Given the description of an element on the screen output the (x, y) to click on. 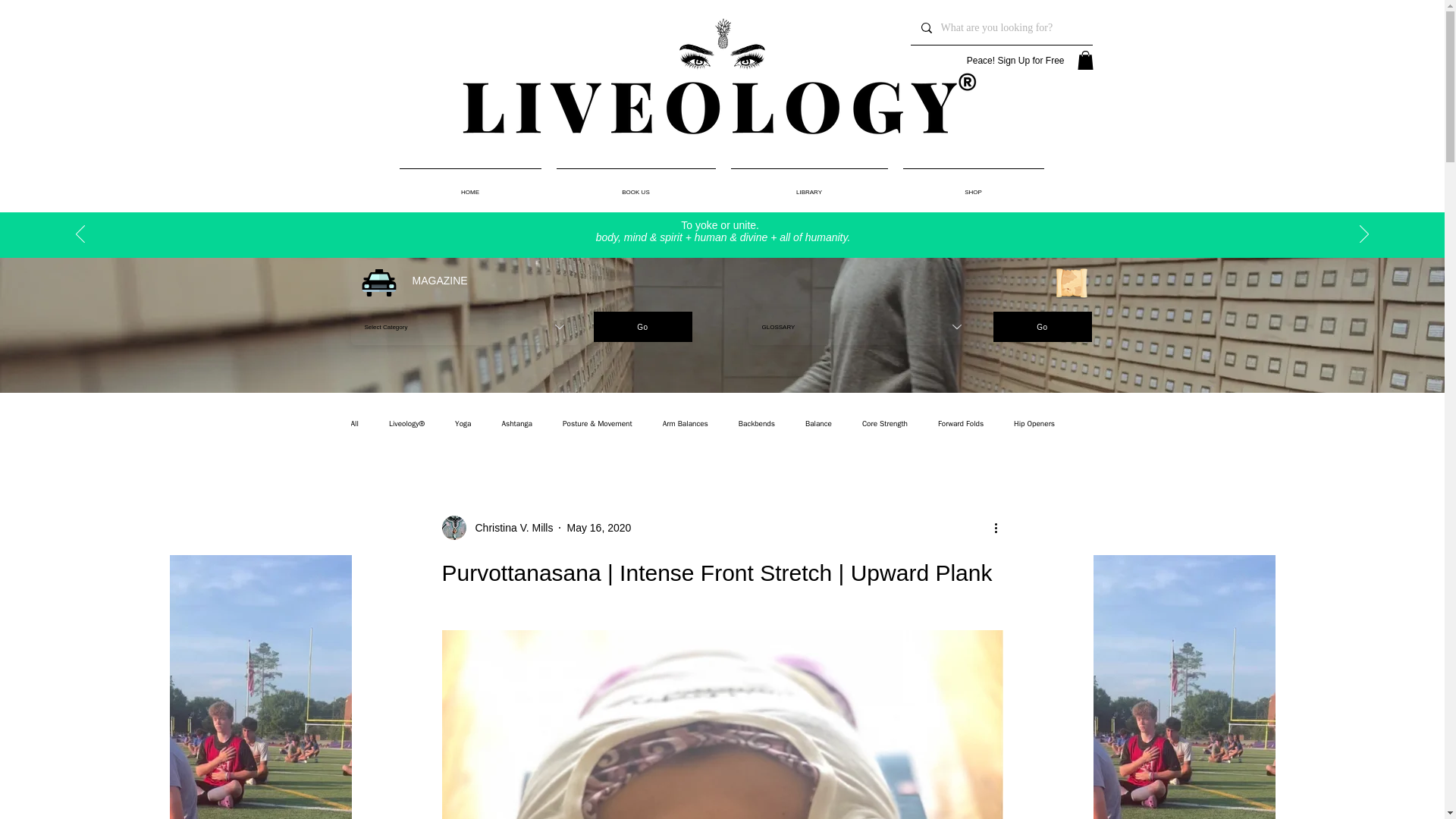
Yoga (462, 423)
Go (1042, 327)
BOOK US (635, 185)
Forward Folds (960, 423)
Arm Balances (684, 423)
LIBRARY (809, 185)
Backbends (756, 423)
Ashtanga (516, 423)
Balance (818, 423)
Peace! Sign Up for Free (996, 60)
Hip Openers (1033, 423)
Christina V. Mills (509, 528)
HOME (469, 185)
SHOP (973, 185)
Core Strength (884, 423)
